Given the description of an element on the screen output the (x, y) to click on. 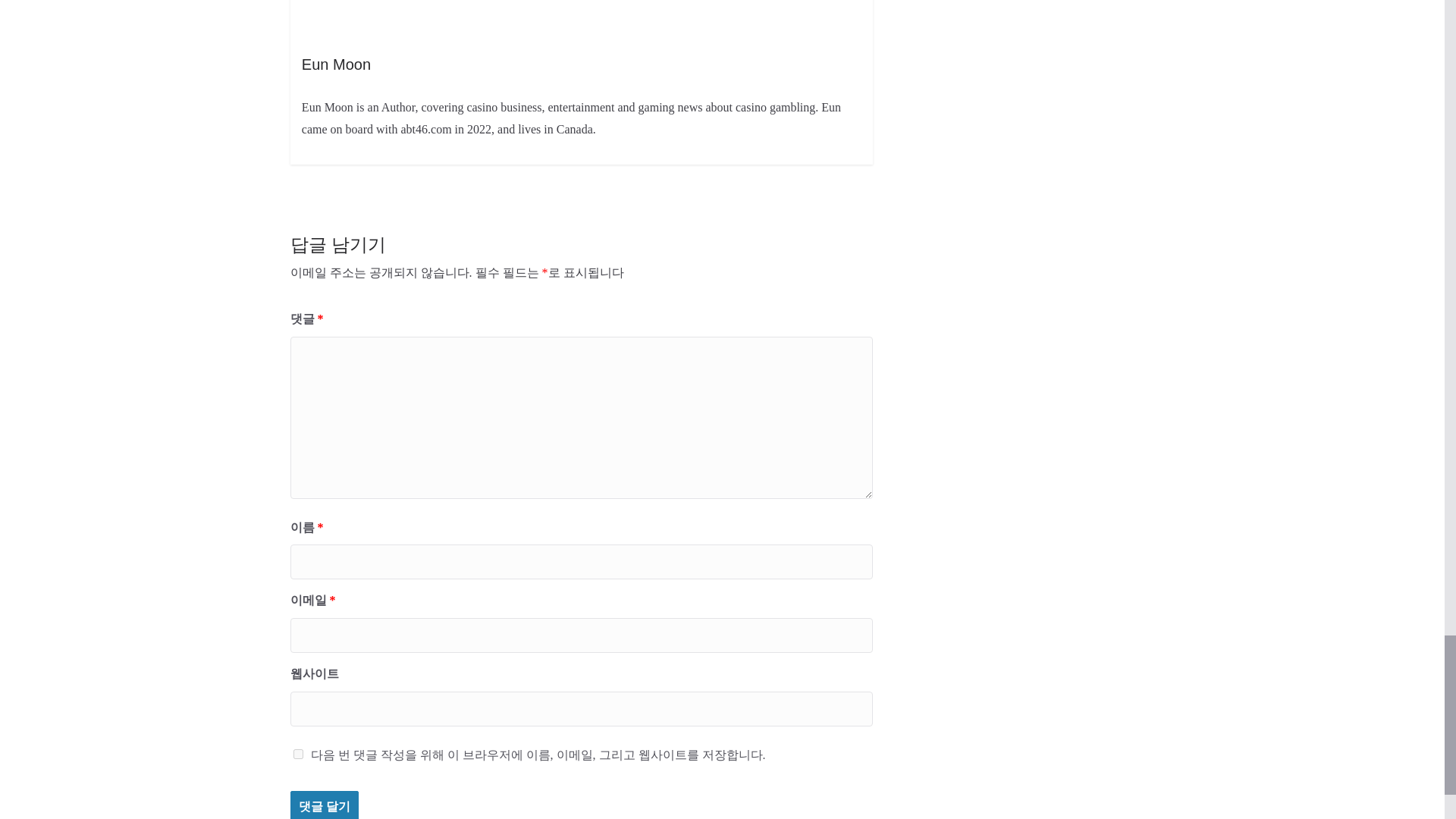
yes (297, 754)
